Given the description of an element on the screen output the (x, y) to click on. 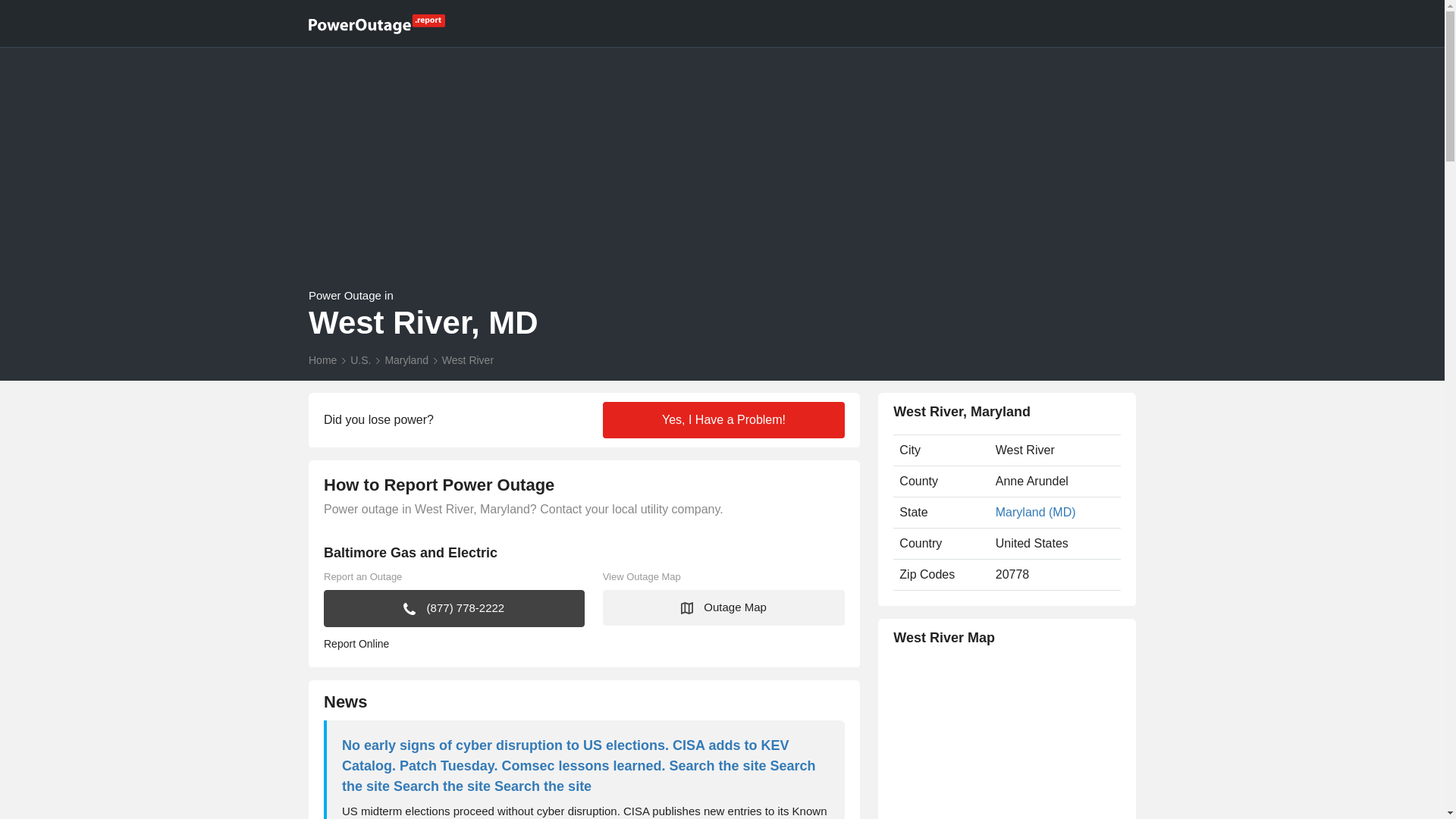
West River (467, 359)
U.S. (360, 359)
Home (322, 359)
Report Online (454, 643)
Outage Map (723, 607)
Yes, I Have a Problem! (723, 420)
United States Power Outage Statistics (360, 359)
Maryland Power Outage Statistics (406, 359)
